Given the description of an element on the screen output the (x, y) to click on. 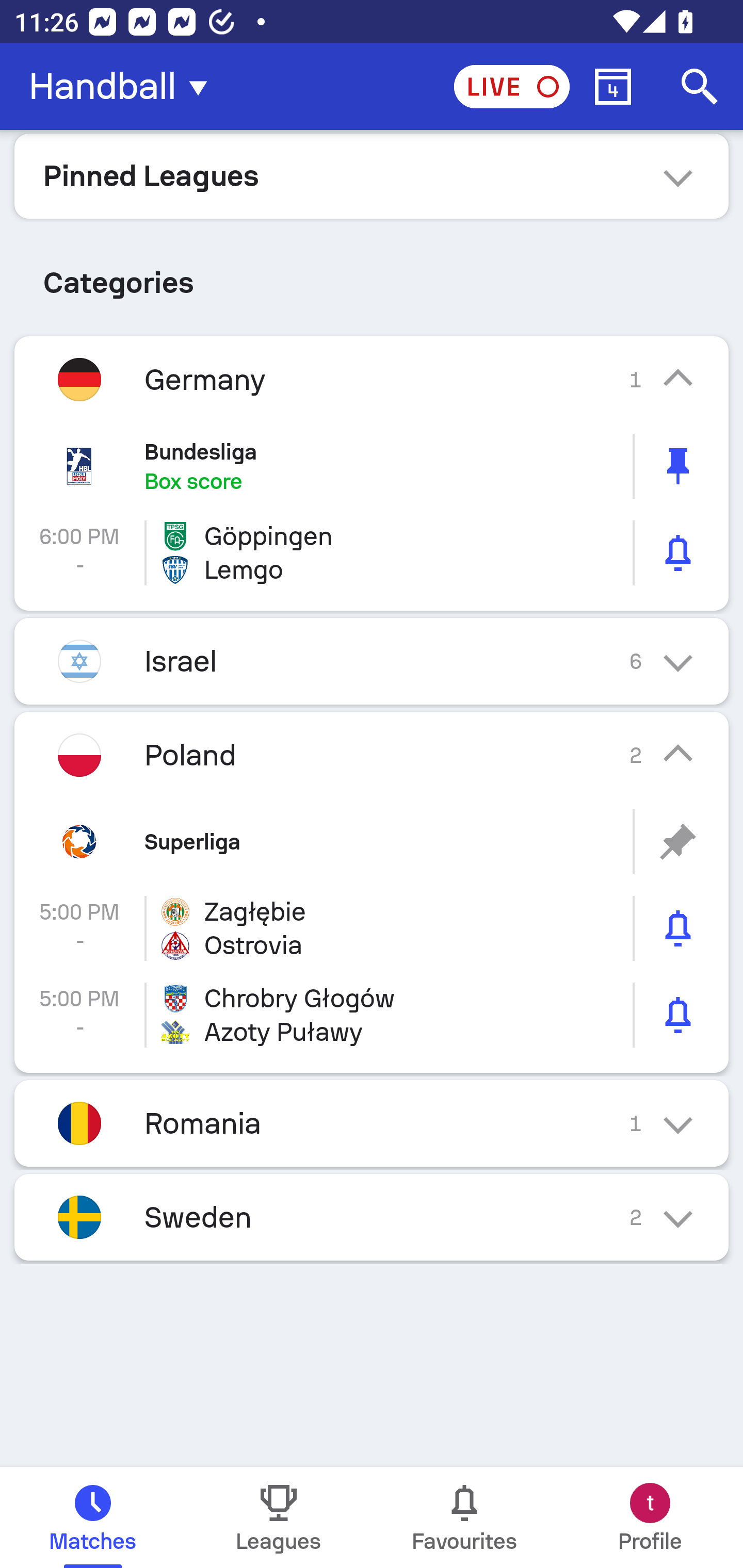
Handball (124, 86)
Calendar (612, 86)
Search (699, 86)
Pinned Leagues (371, 175)
Categories (371, 275)
Germany 1 (371, 379)
Bundesliga Box score (371, 466)
6:00 PM - Göppingen Lemgo (371, 552)
Israel 6 (371, 660)
Poland 2 (371, 754)
Superliga (371, 841)
5:00 PM - Zagłębie Ostrovia (371, 928)
5:00 PM - Chrobry Głogów Azoty Puławy (371, 1015)
Romania 1 (371, 1123)
Sweden 2 (371, 1217)
Leagues (278, 1517)
Favourites (464, 1517)
Profile (650, 1517)
